Given the description of an element on the screen output the (x, y) to click on. 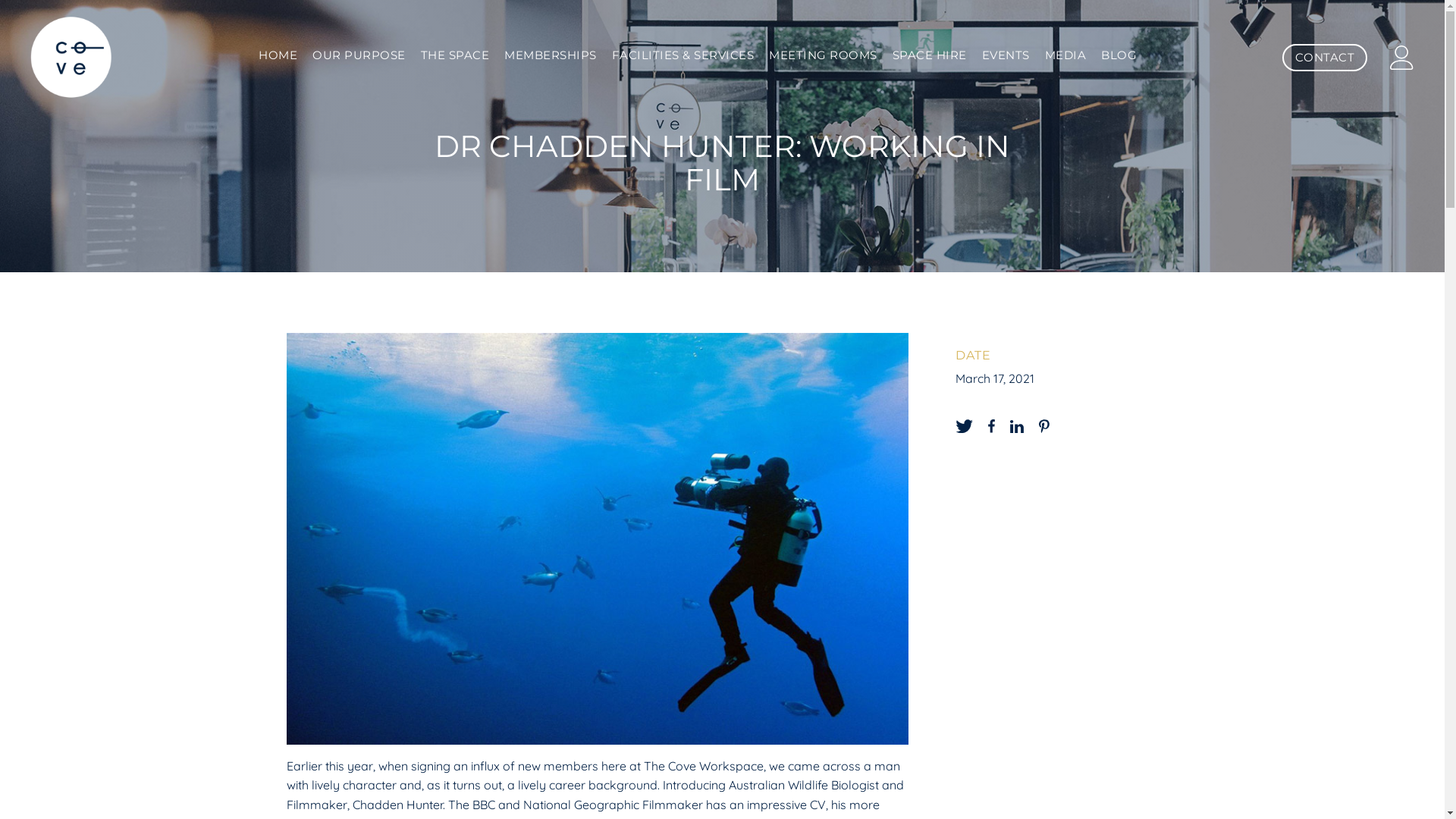
MEMBERSHIPS Element type: text (550, 55)
OUR PURPOSE Element type: text (358, 55)
MEETING ROOMS Element type: text (822, 55)
SPACE HIRE Element type: text (929, 55)
THE SPACE Element type: text (455, 55)
HOME Element type: text (277, 55)
BLOG Element type: text (1118, 55)
FACILITIES & SERVICES Element type: text (683, 55)
EVENTS Element type: text (1005, 55)
CONTACT Element type: text (1324, 57)
MEDIA Element type: text (1065, 55)
